Given the description of an element on the screen output the (x, y) to click on. 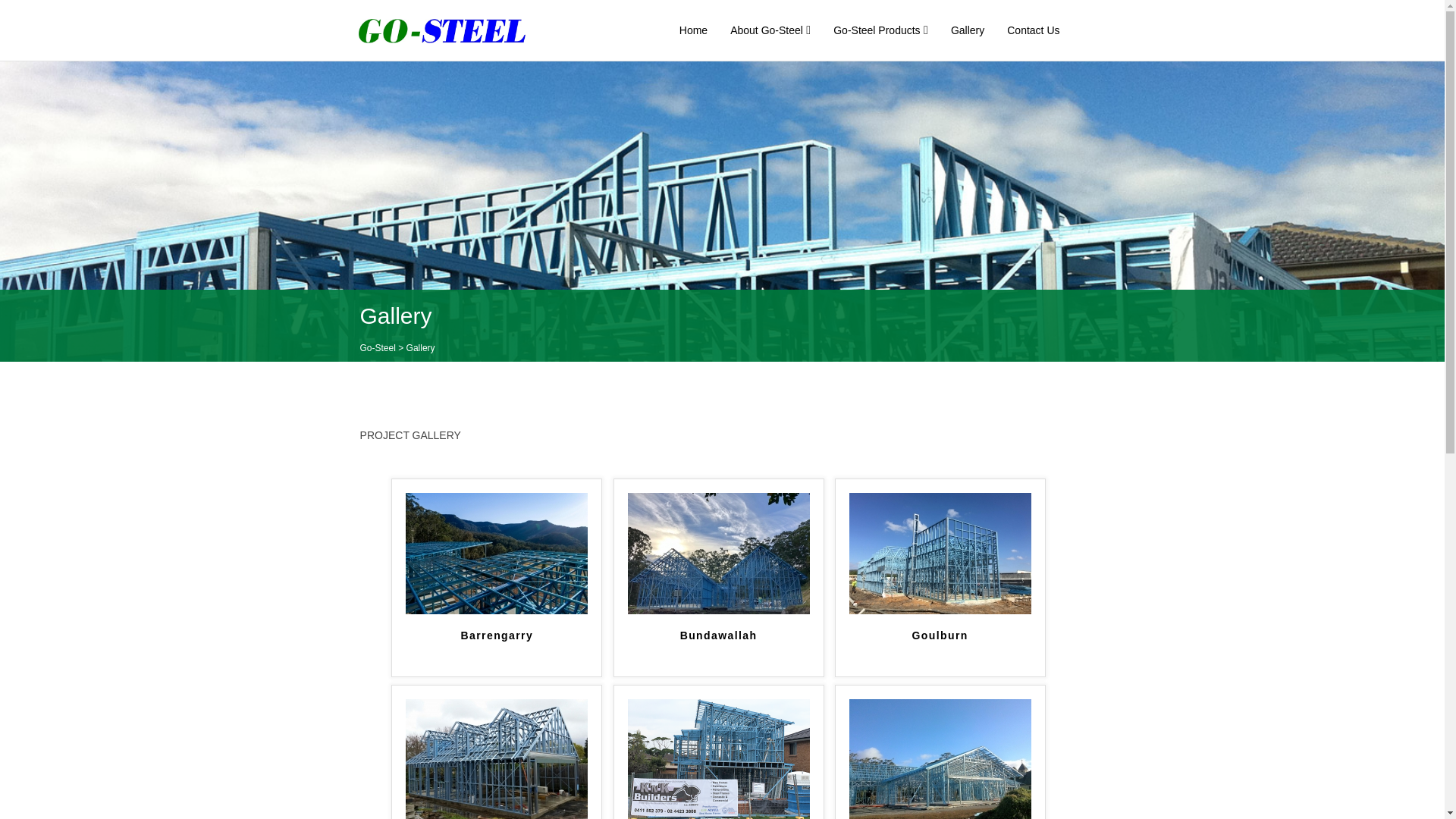
Barrengarry Element type: text (496, 647)
Bundawallah Element type: hover (718, 552)
About Go-Steel Element type: text (770, 30)
Highlands Element type: hover (496, 758)
Goulburn Element type: text (940, 647)
Go-Steel Element type: text (377, 347)
Goulburn Element type: hover (940, 552)
Bundawallah Element type: text (718, 647)
Home Element type: text (693, 30)
Gallery Element type: text (967, 30)
Go-Steel Products Element type: text (880, 30)
Barrengarry Element type: hover (496, 552)
Huskisson Element type: hover (718, 758)
Contact Us Element type: text (1033, 30)
Mittagong Element type: hover (940, 758)
